Given the description of an element on the screen output the (x, y) to click on. 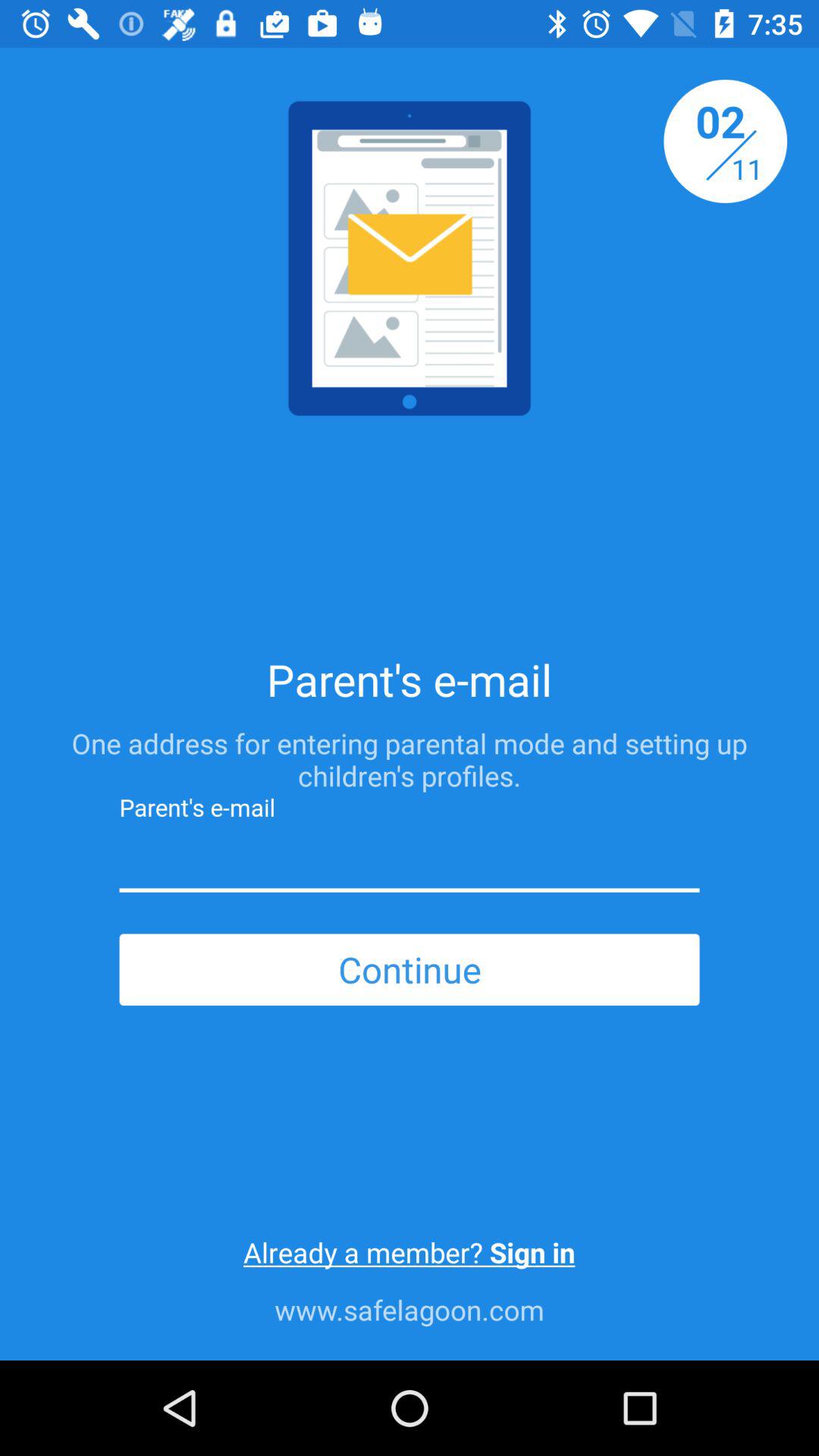
give parent 's e-mail address (409, 861)
